Given the description of an element on the screen output the (x, y) to click on. 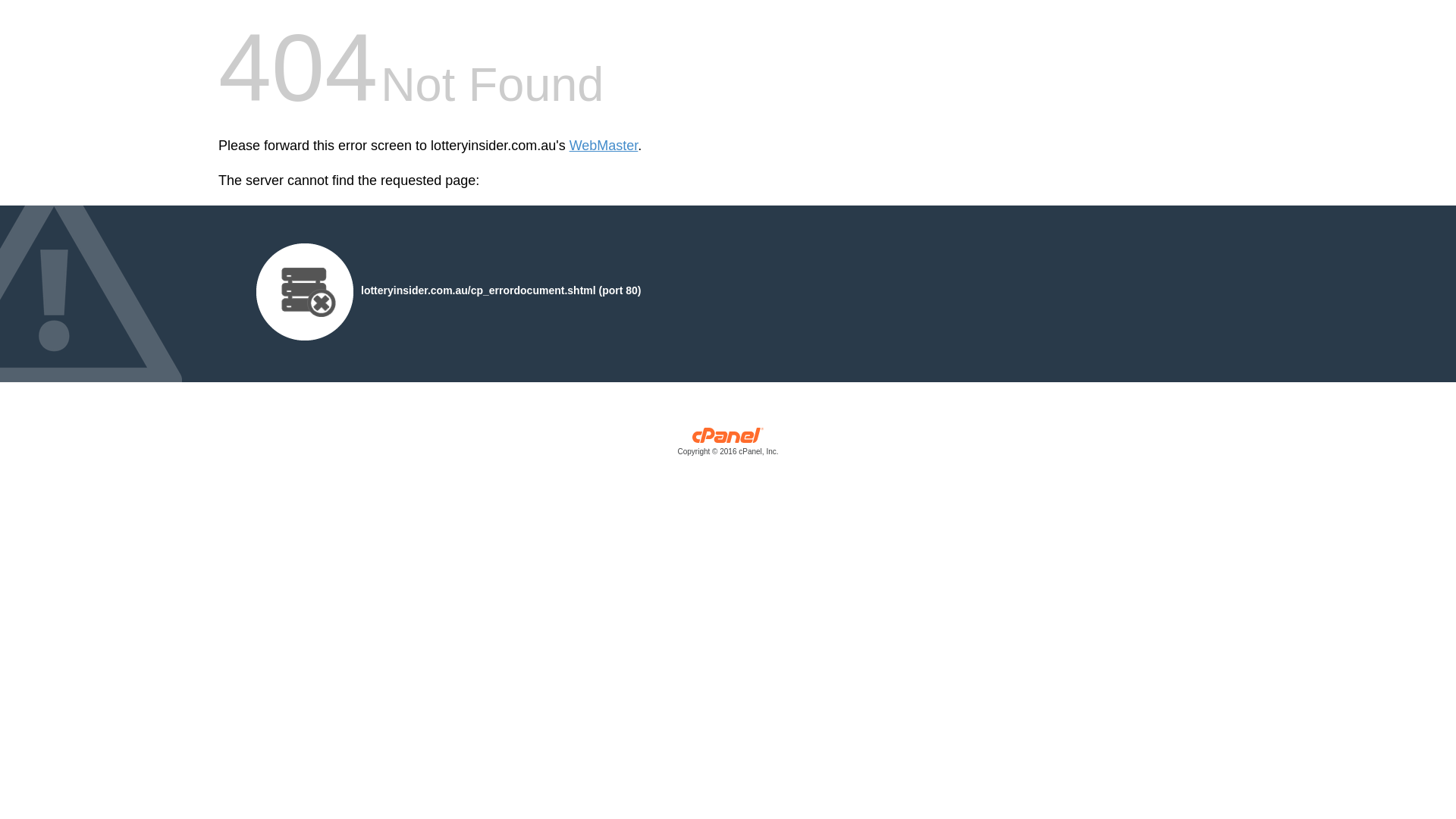
WebMaster Element type: text (603, 145)
